Given the description of an element on the screen output the (x, y) to click on. 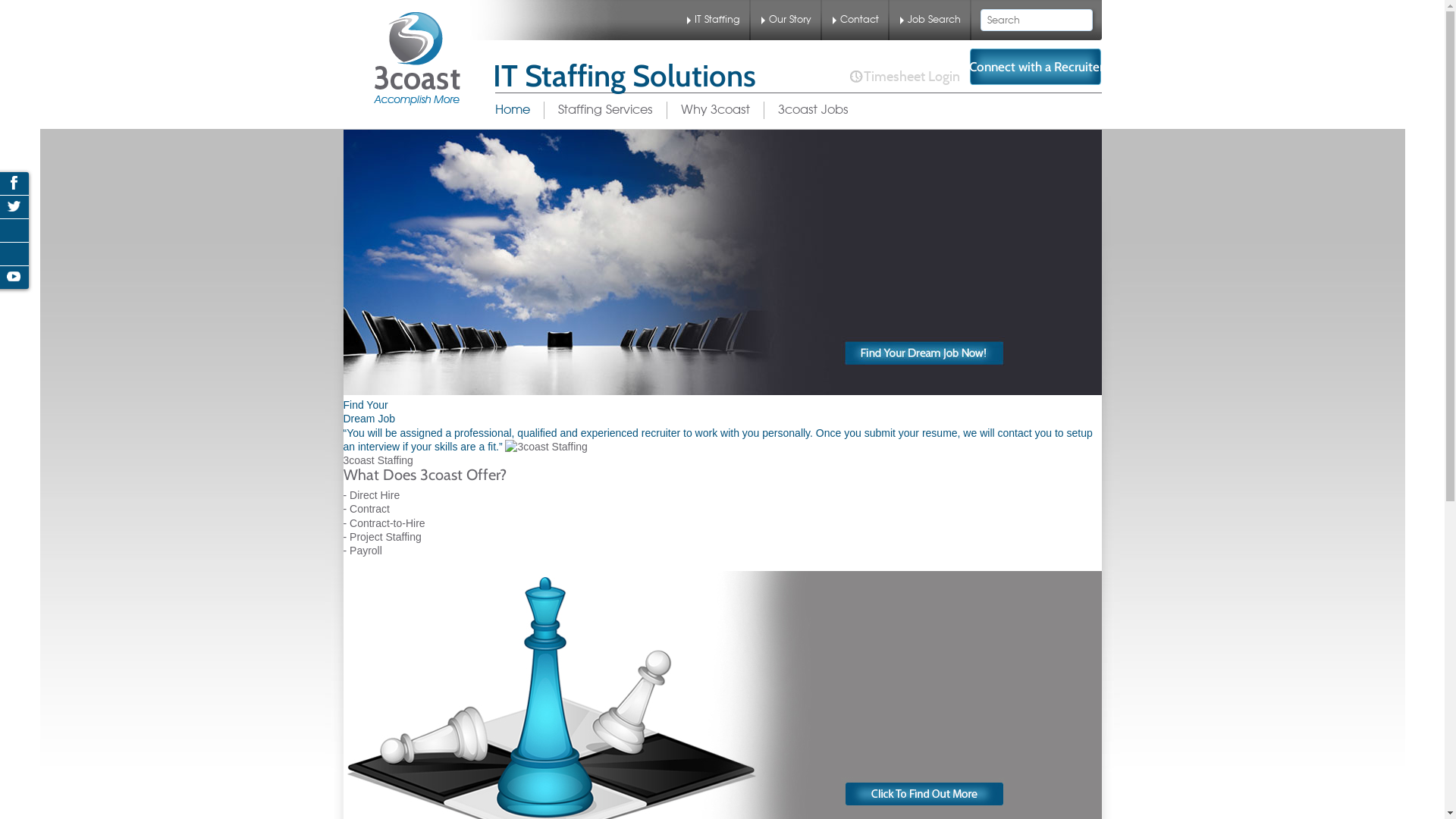
Facebook Element type: text (13, 182)
IT Staffing Element type: text (713, 20)
Job Search Element type: text (929, 20)
3coast Resources Element type: text (416, 58)
Our Story Element type: text (786, 20)
Twitter Element type: text (13, 205)
Contact Element type: text (855, 20)
Connect with a Recruiter NOW Element type: text (1035, 66)
Staffing Services Element type: text (603, 110)
Skip to secondary content Element type: text (584, 110)
Why 3coast Element type: text (713, 110)
Skip to primary content Element type: text (575, 110)
YouTube Element type: text (13, 276)
Search Element type: text (20, 10)
LinkedIn Element type: text (13, 229)
Timesheet Login Element type: text (904, 76)
3coast Jobs Element type: text (811, 110)
Share Element type: text (13, 252)
Home Element type: text (518, 110)
